Given the description of an element on the screen output the (x, y) to click on. 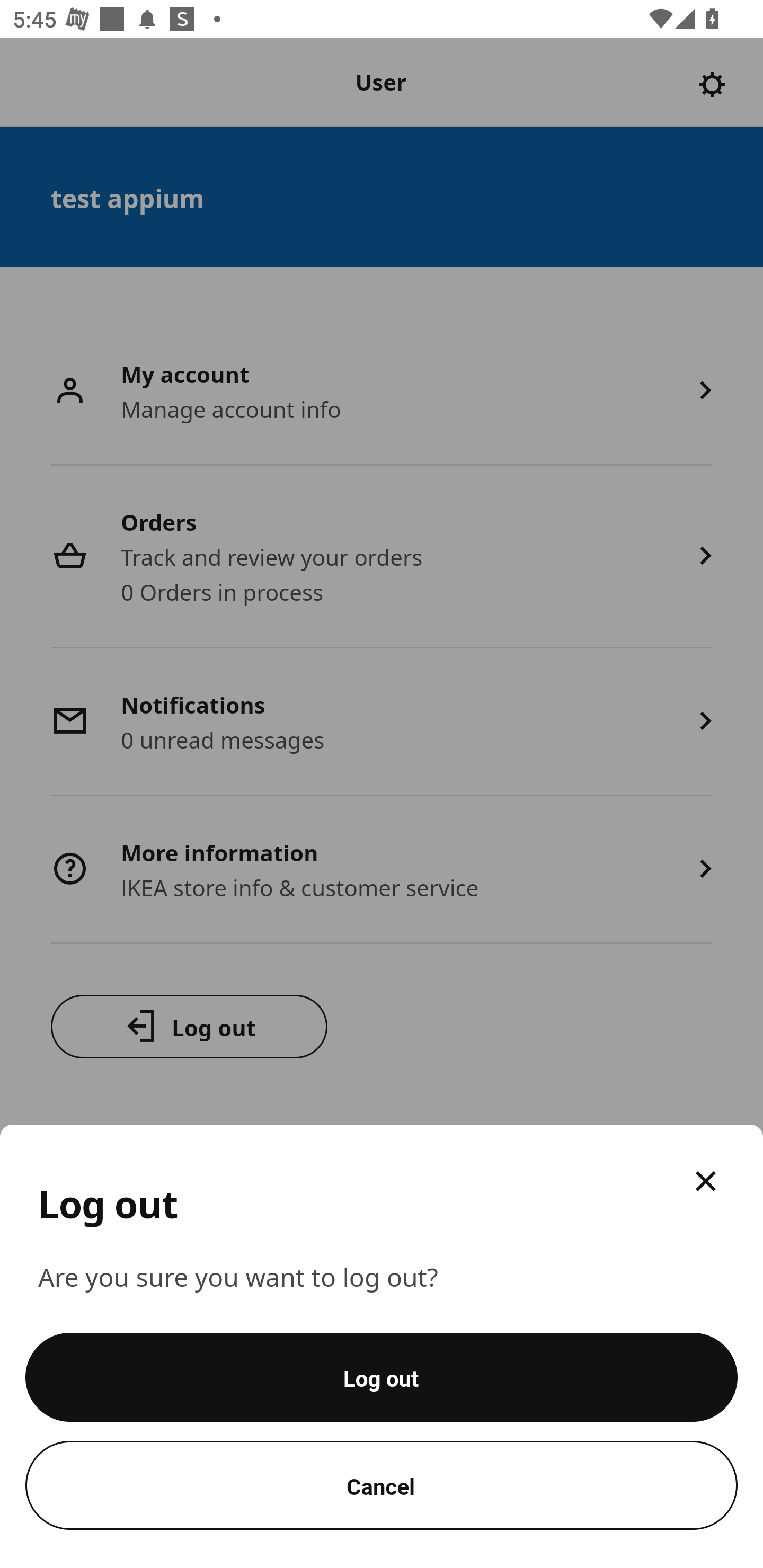
Log out (381, 1377)
Cancel (381, 1485)
